Given the description of an element on the screen output the (x, y) to click on. 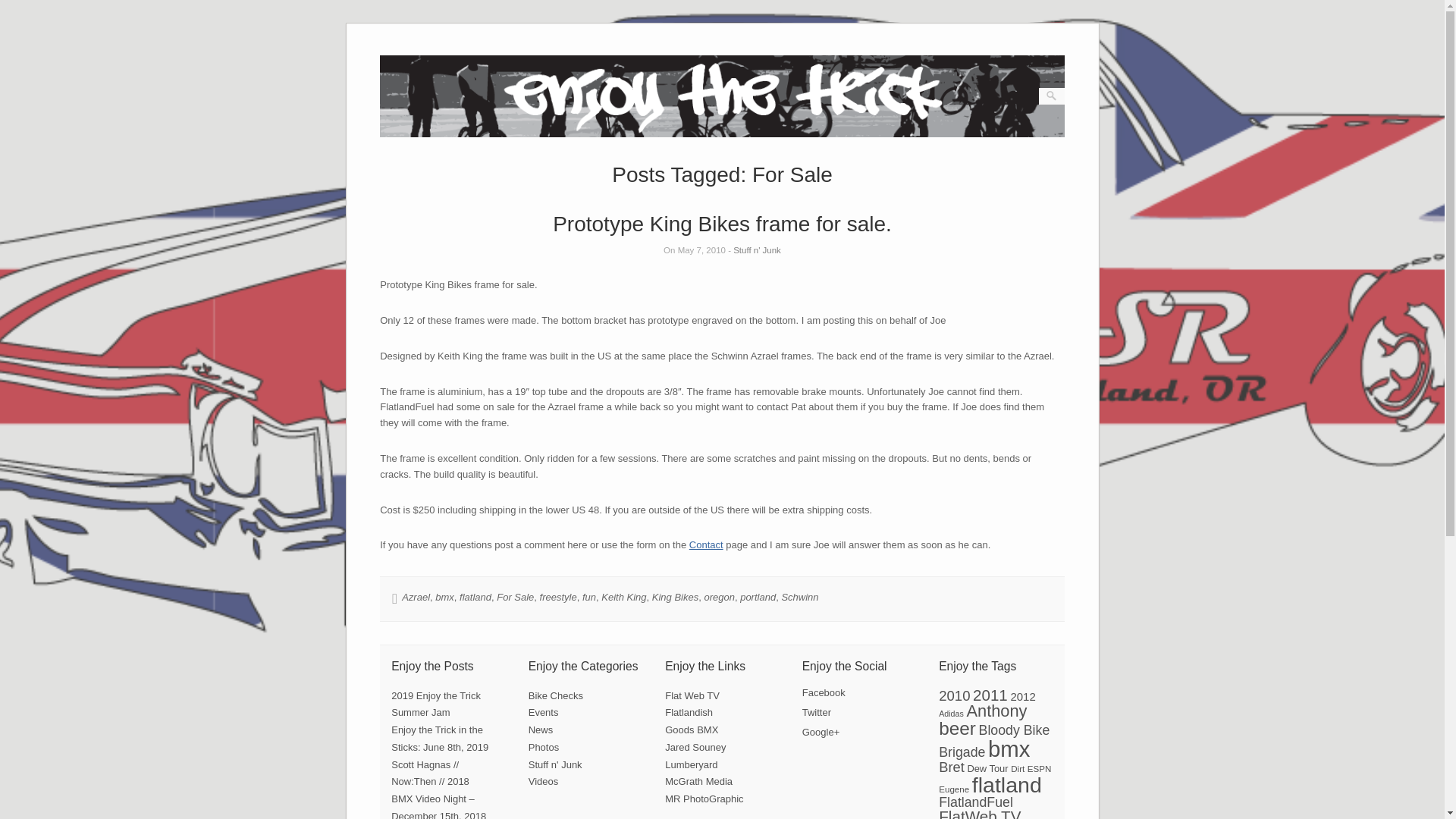
Lumberyard (691, 764)
Flat Web TV (692, 695)
Keith King (623, 596)
Stuff n' Junk (555, 764)
2011 (989, 694)
Search (21, 7)
Schwinn (799, 596)
Events (543, 712)
Facebook (823, 692)
Bike Checks (555, 695)
2010 (954, 695)
The World Is Flat. (689, 712)
McGrath Media (698, 781)
Contact (705, 544)
